Given the description of an element on the screen output the (x, y) to click on. 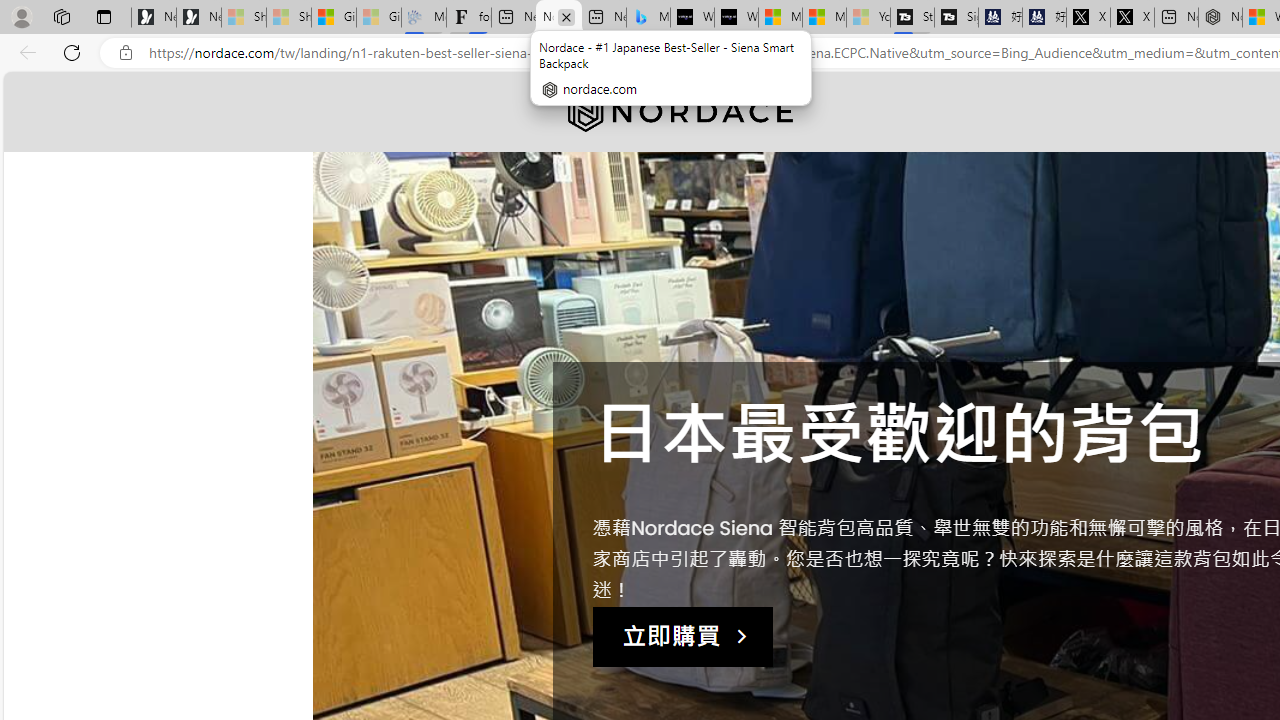
Nordace - My Account (1220, 17)
